Given the description of an element on the screen output the (x, y) to click on. 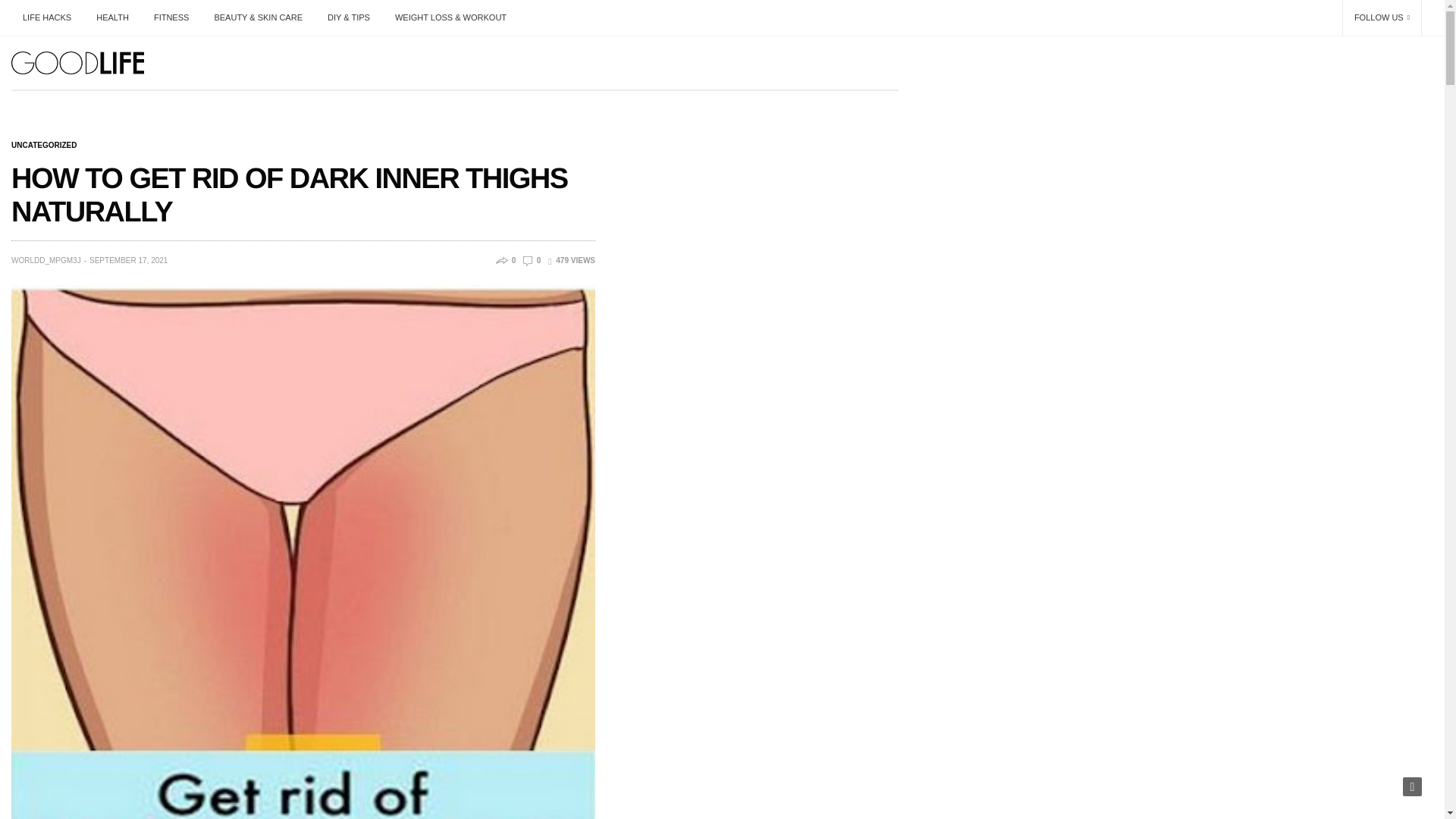
Uncategorized (44, 145)
FITNESS (171, 17)
HEALTH (111, 17)
HOW TO GET RID OF DARK INNER THIGHS NATURALLY (532, 260)
FOLLOW US (1381, 18)
LIFE HACKS (52, 17)
0 (532, 260)
UNCATEGORIZED (44, 145)
